Given the description of an element on the screen output the (x, y) to click on. 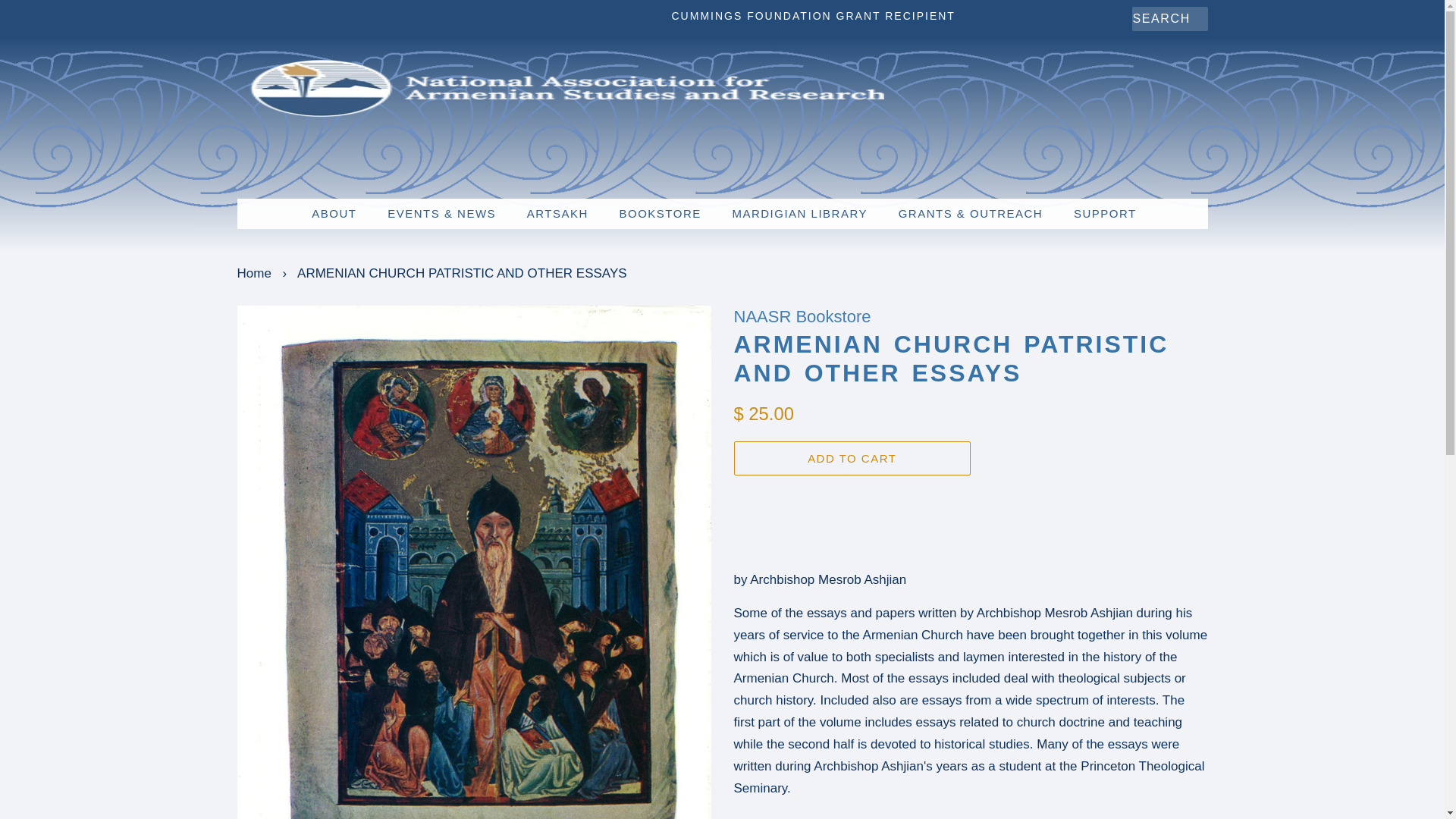
CUMMINGS FOUNDATION GRANT RECIPIENT (813, 15)
SEARCH (1146, 18)
Back to the frontpage (255, 273)
